Given the description of an element on the screen output the (x, y) to click on. 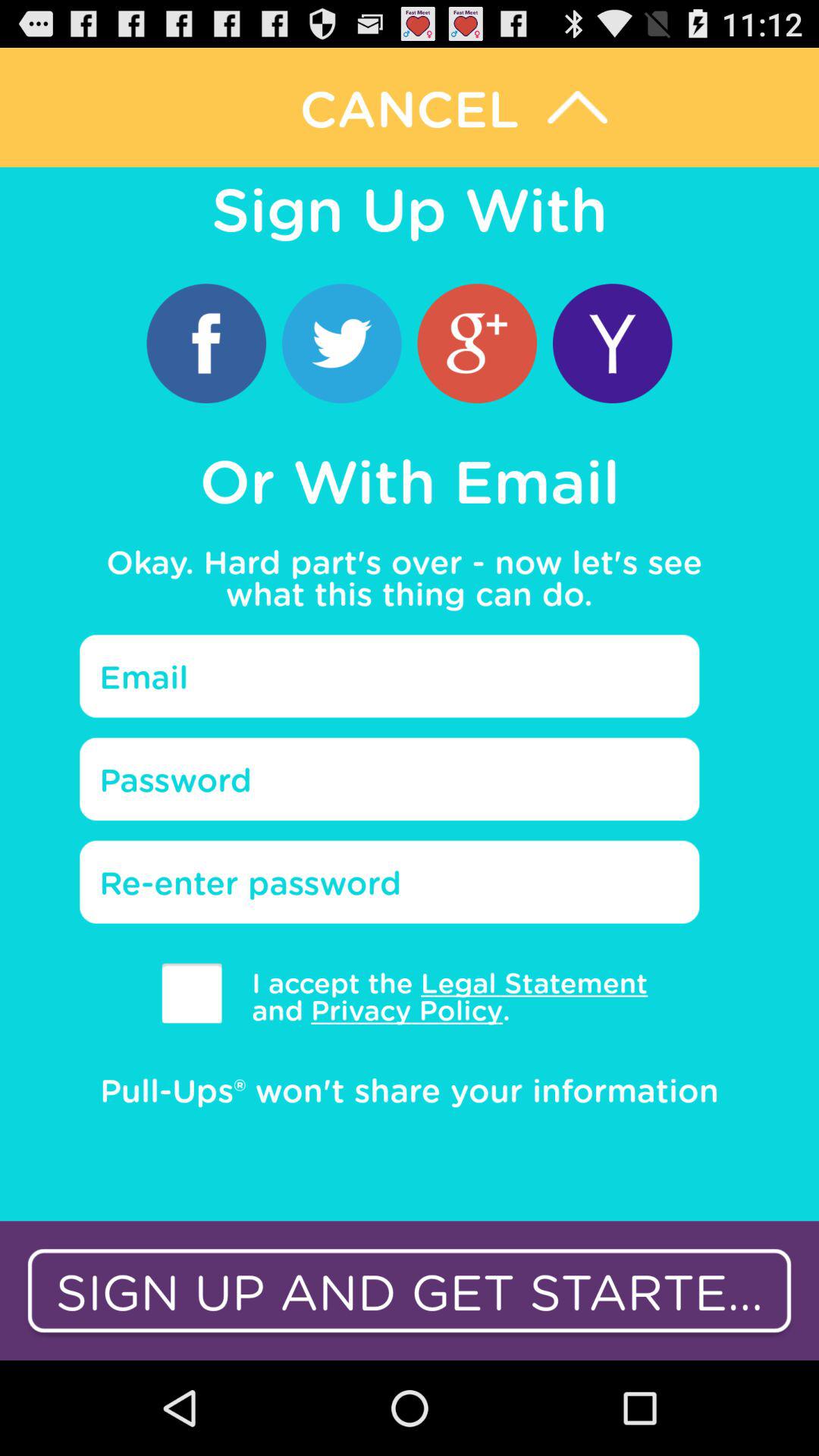
sign up with google+ (476, 343)
